Given the description of an element on the screen output the (x, y) to click on. 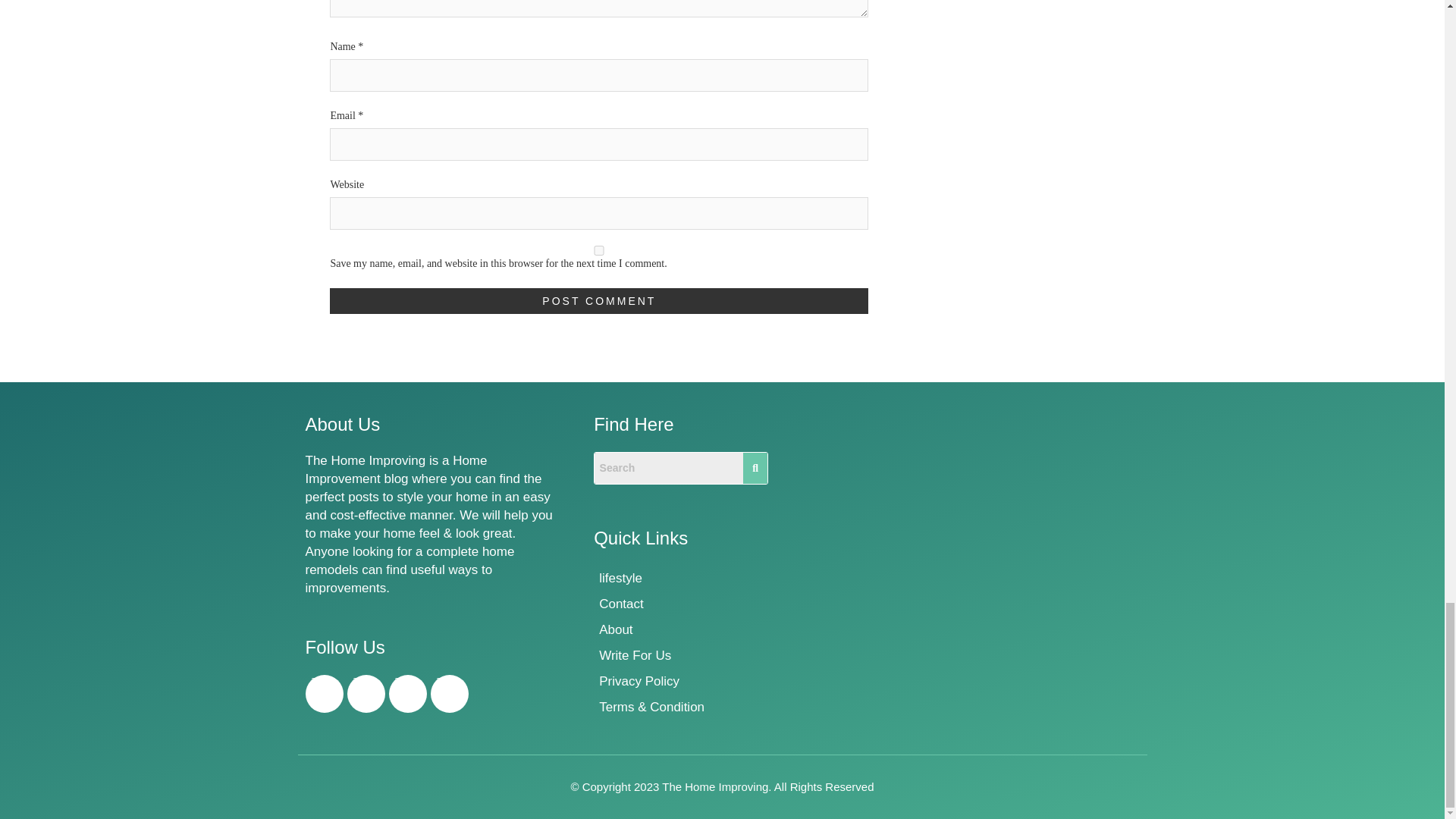
yes (598, 250)
Post Comment (598, 300)
Search (668, 468)
